Given the description of an element on the screen output the (x, y) to click on. 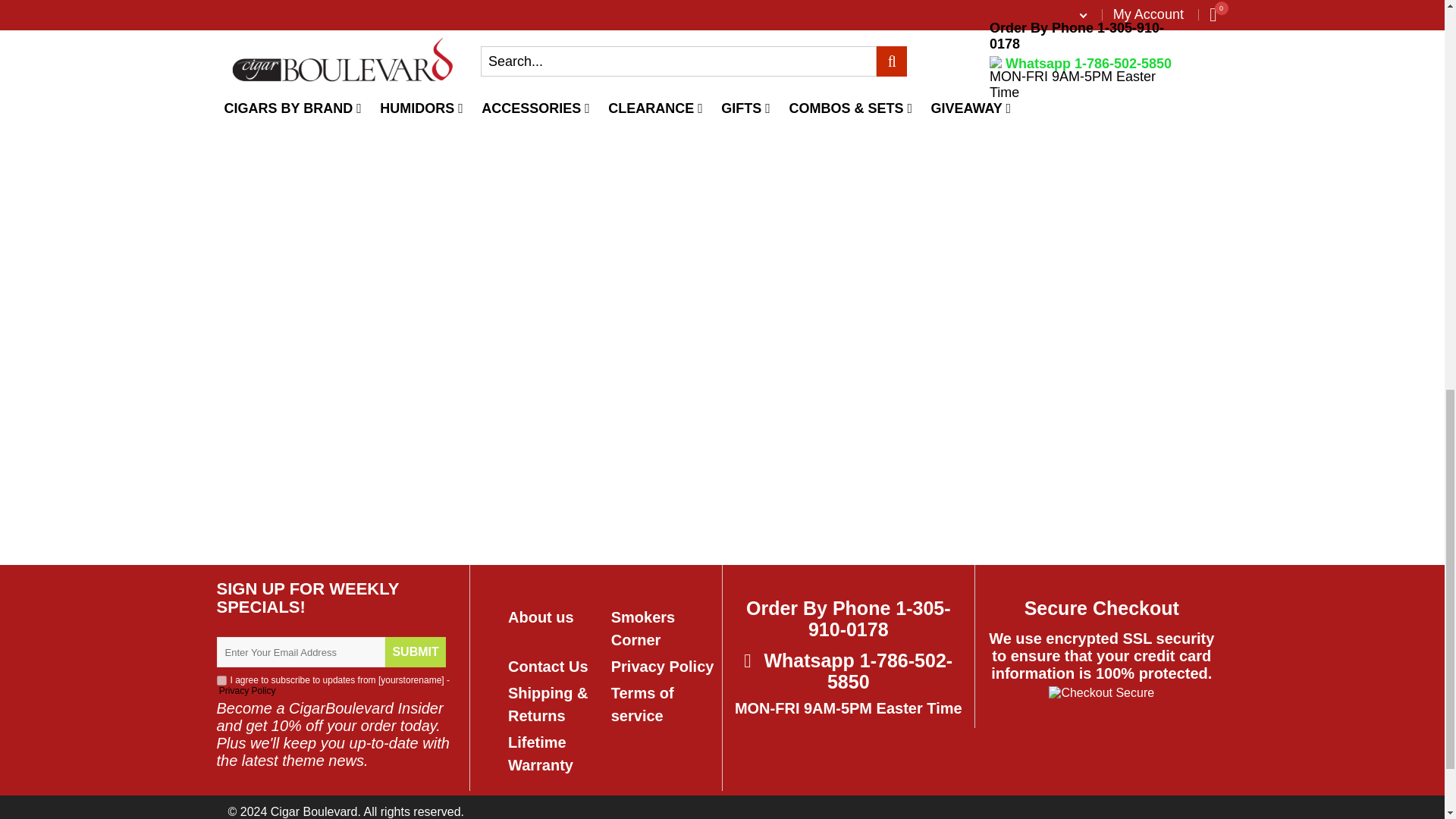
on (221, 680)
